Given the description of an element on the screen output the (x, y) to click on. 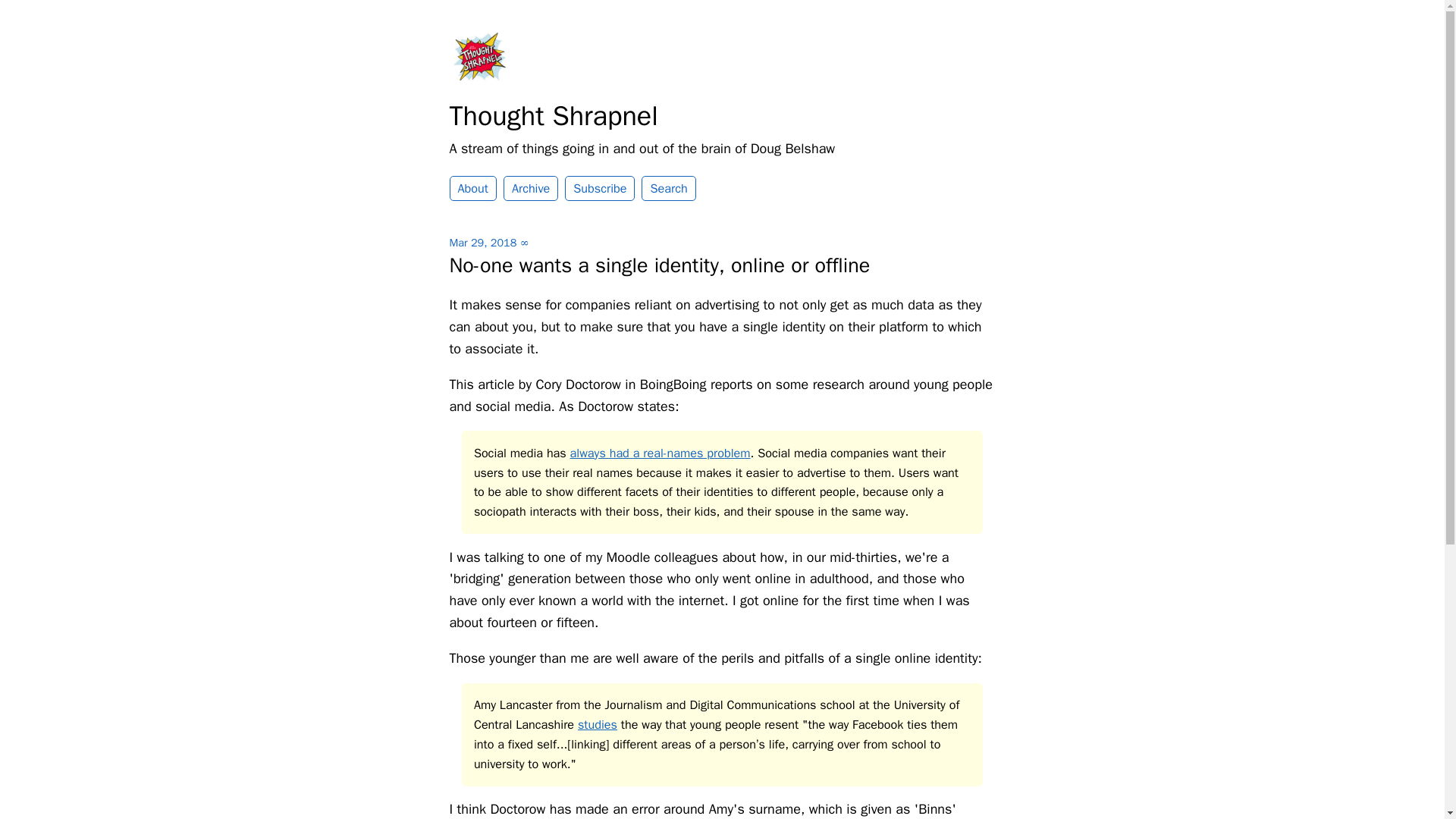
About (472, 188)
Archive (530, 188)
